Given the description of an element on the screen output the (x, y) to click on. 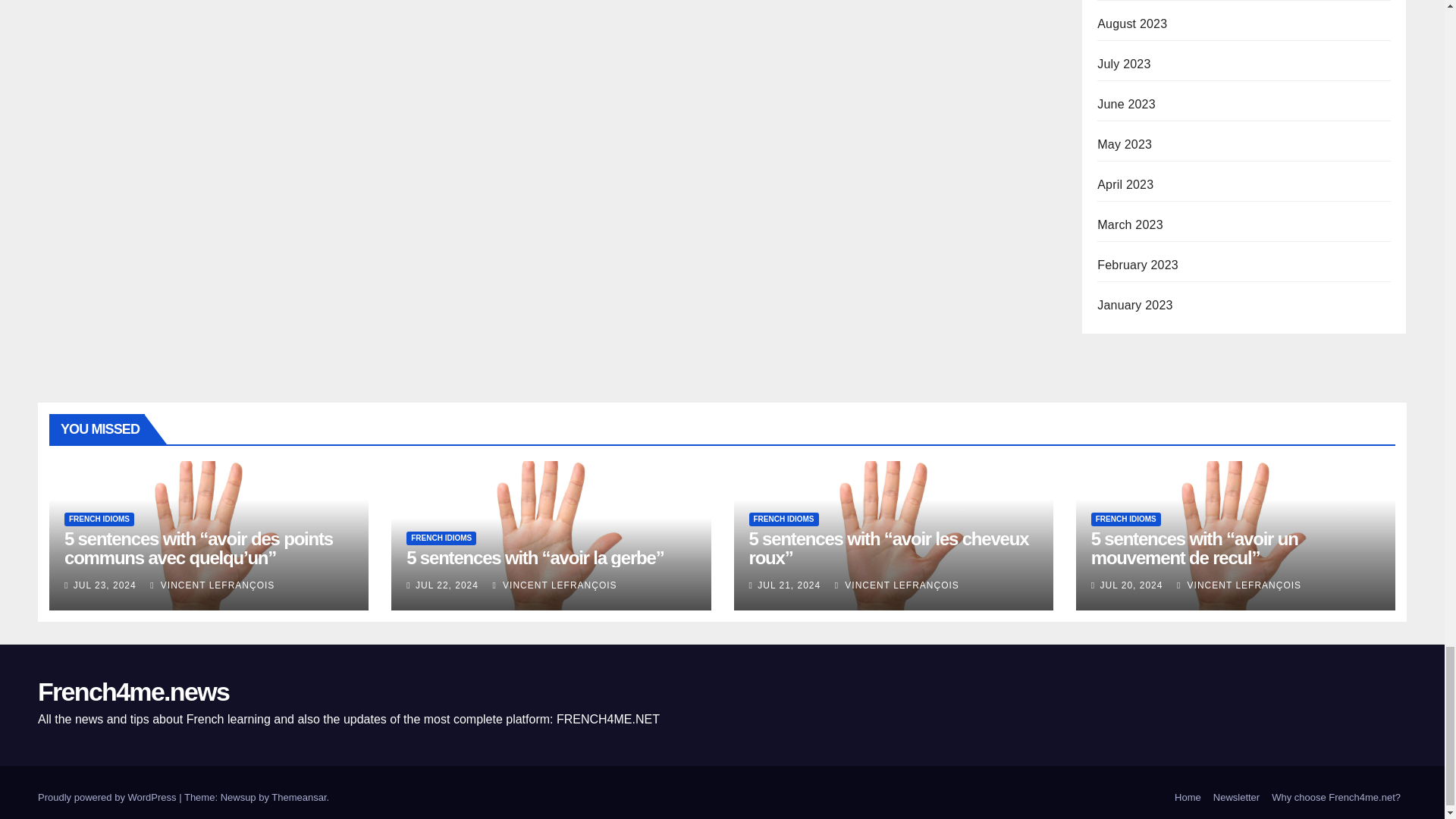
Home (1188, 797)
